Given the description of an element on the screen output the (x, y) to click on. 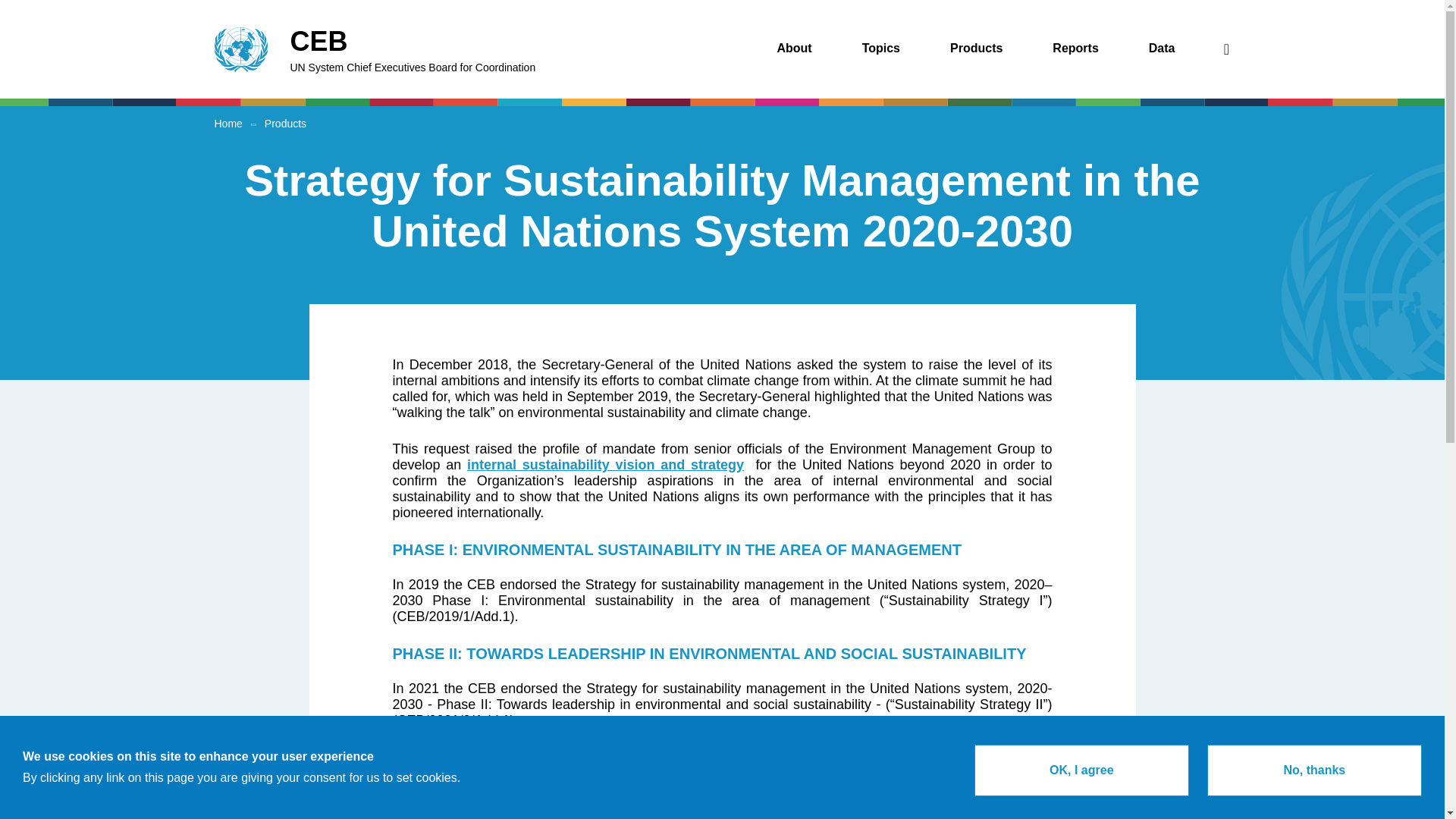
About (482, 49)
Reports (793, 48)
Topics (1074, 48)
Products (880, 48)
